Given the description of an element on the screen output the (x, y) to click on. 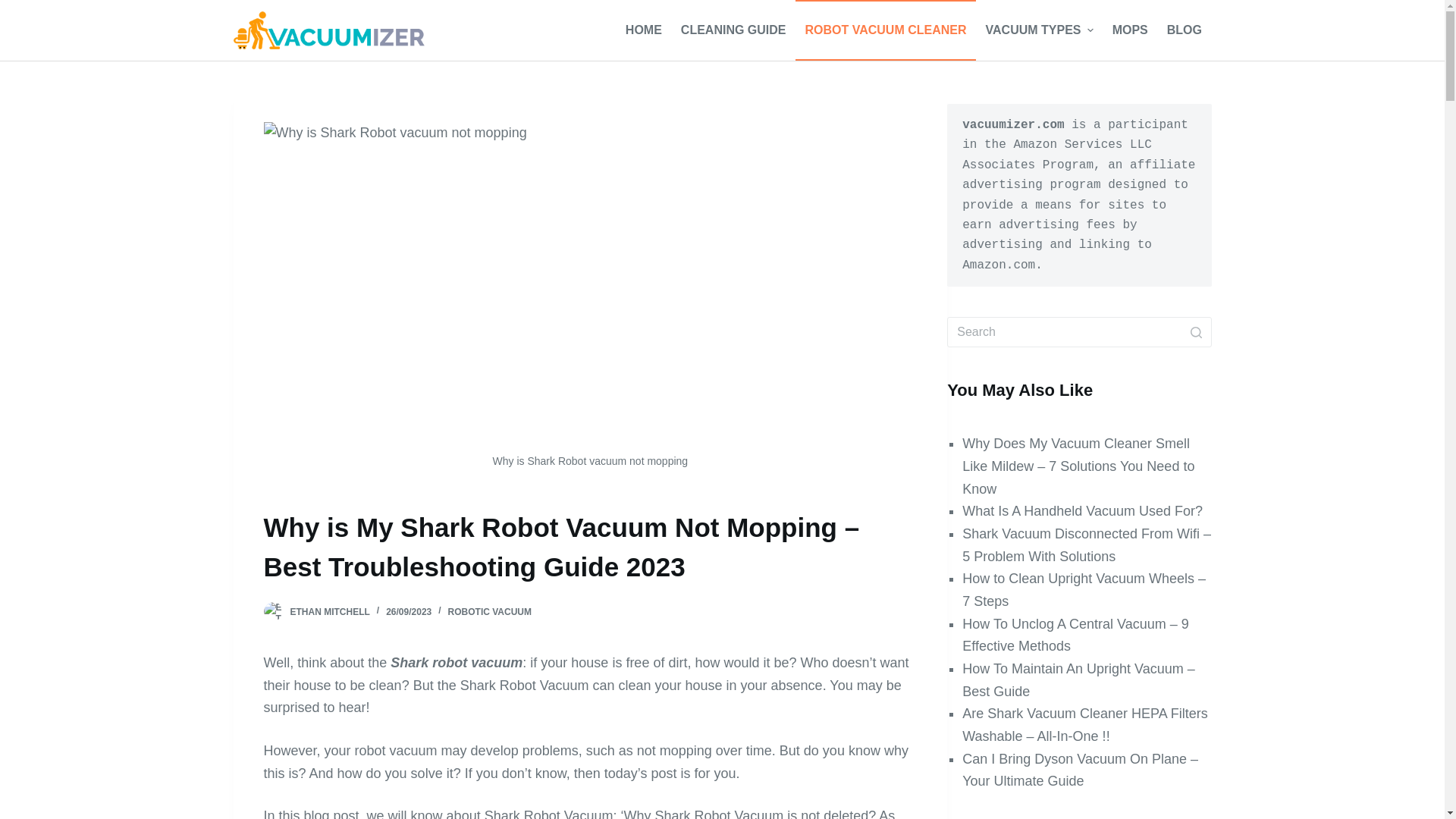
VACUUM TYPES (1038, 30)
MOPS (1129, 30)
ROBOTIC VACUUM (489, 611)
Posts by Ethan Mitchell (329, 611)
HOME (643, 30)
CLEANING GUIDE (732, 30)
ETHAN MITCHELL (329, 611)
Skip to content (15, 7)
ROBOT VACUUM CLEANER (884, 30)
